Given the description of an element on the screen output the (x, y) to click on. 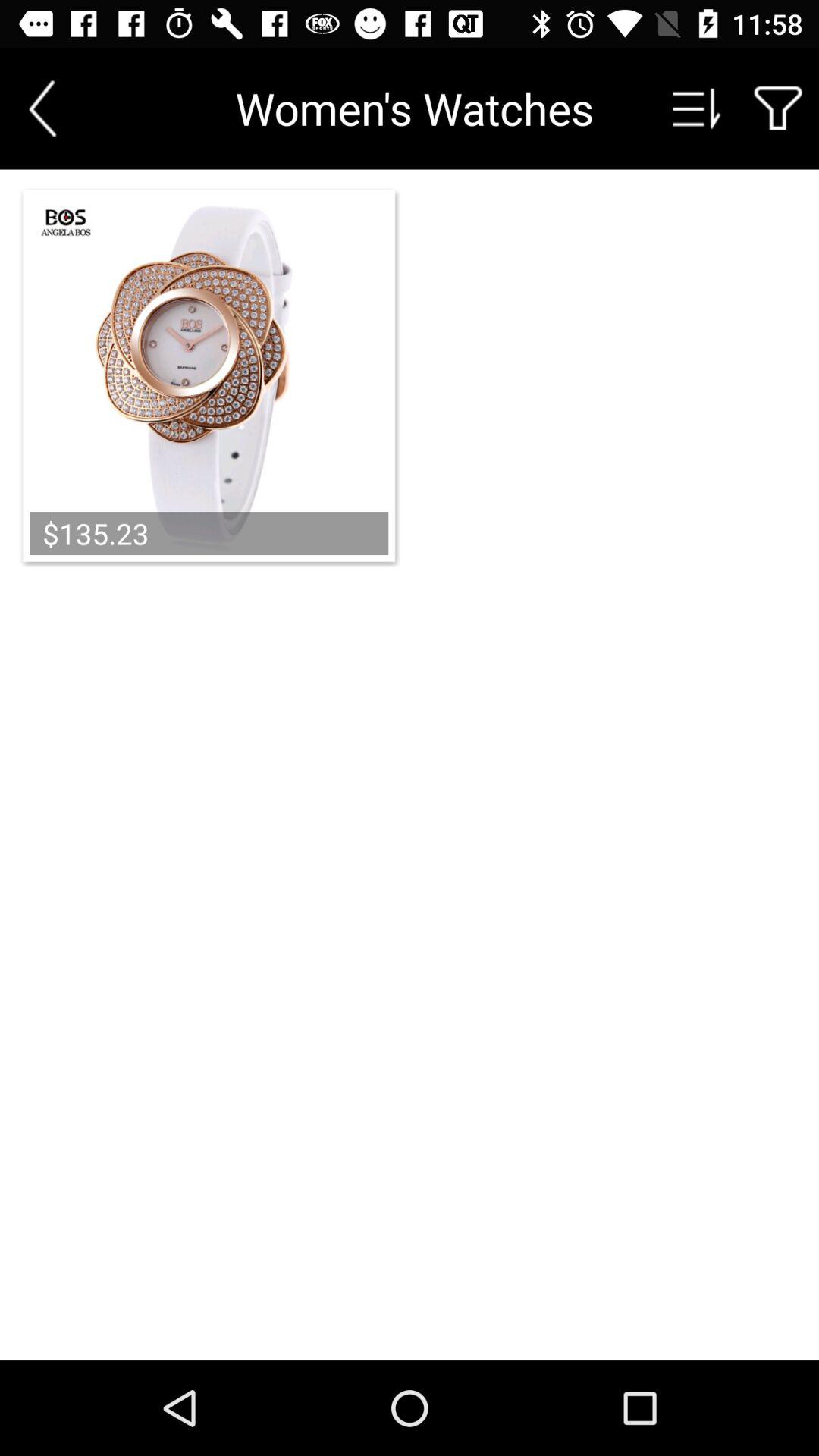
go to menu (696, 108)
